Given the description of an element on the screen output the (x, y) to click on. 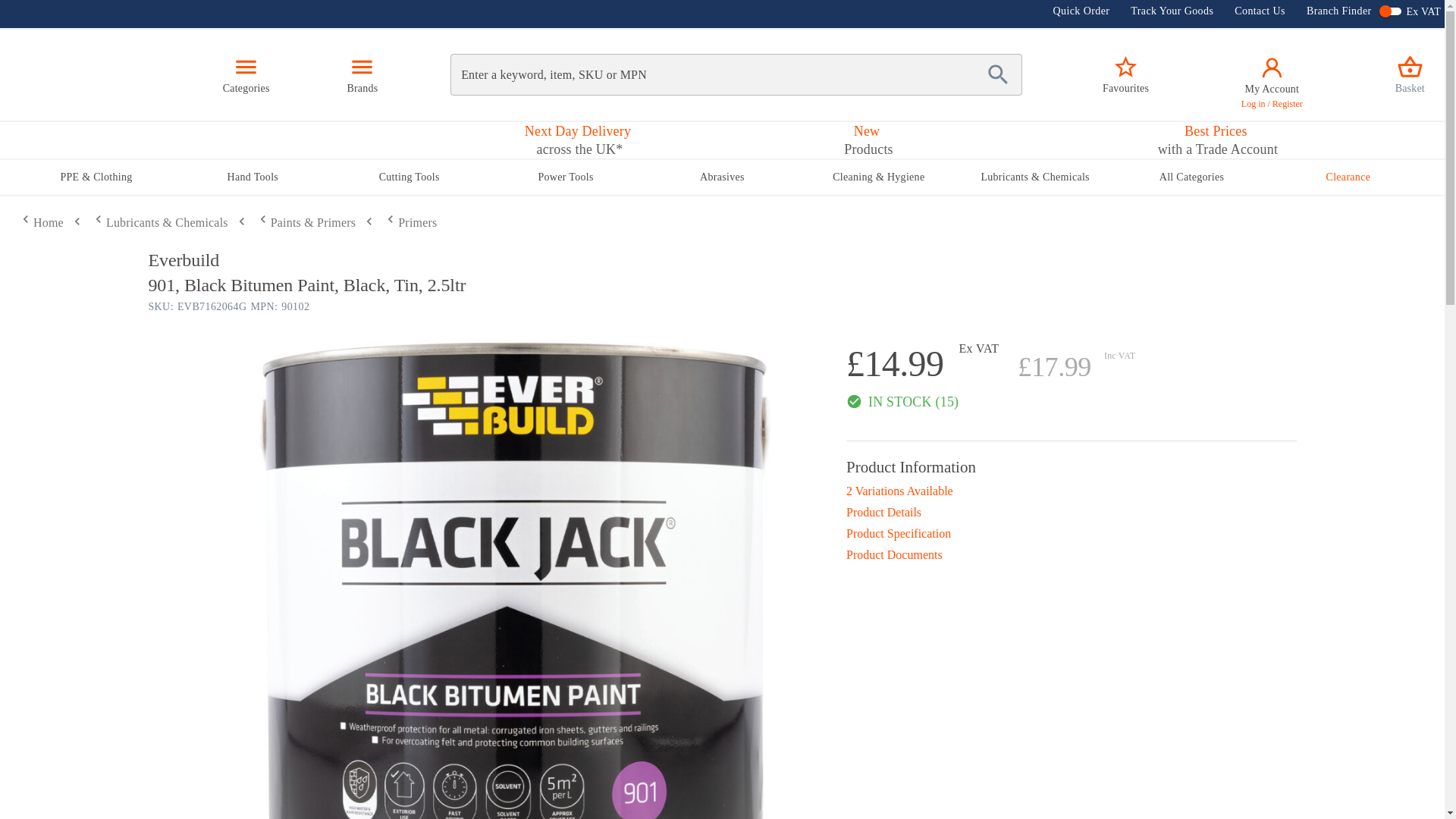
Categories (246, 74)
Home (866, 140)
Primers (40, 222)
Hand Tools (409, 221)
Product Documents (252, 176)
Quick Order (1071, 554)
Favourites (1075, 14)
All Categories (1125, 74)
2 Variations Available (1191, 176)
